Given the description of an element on the screen output the (x, y) to click on. 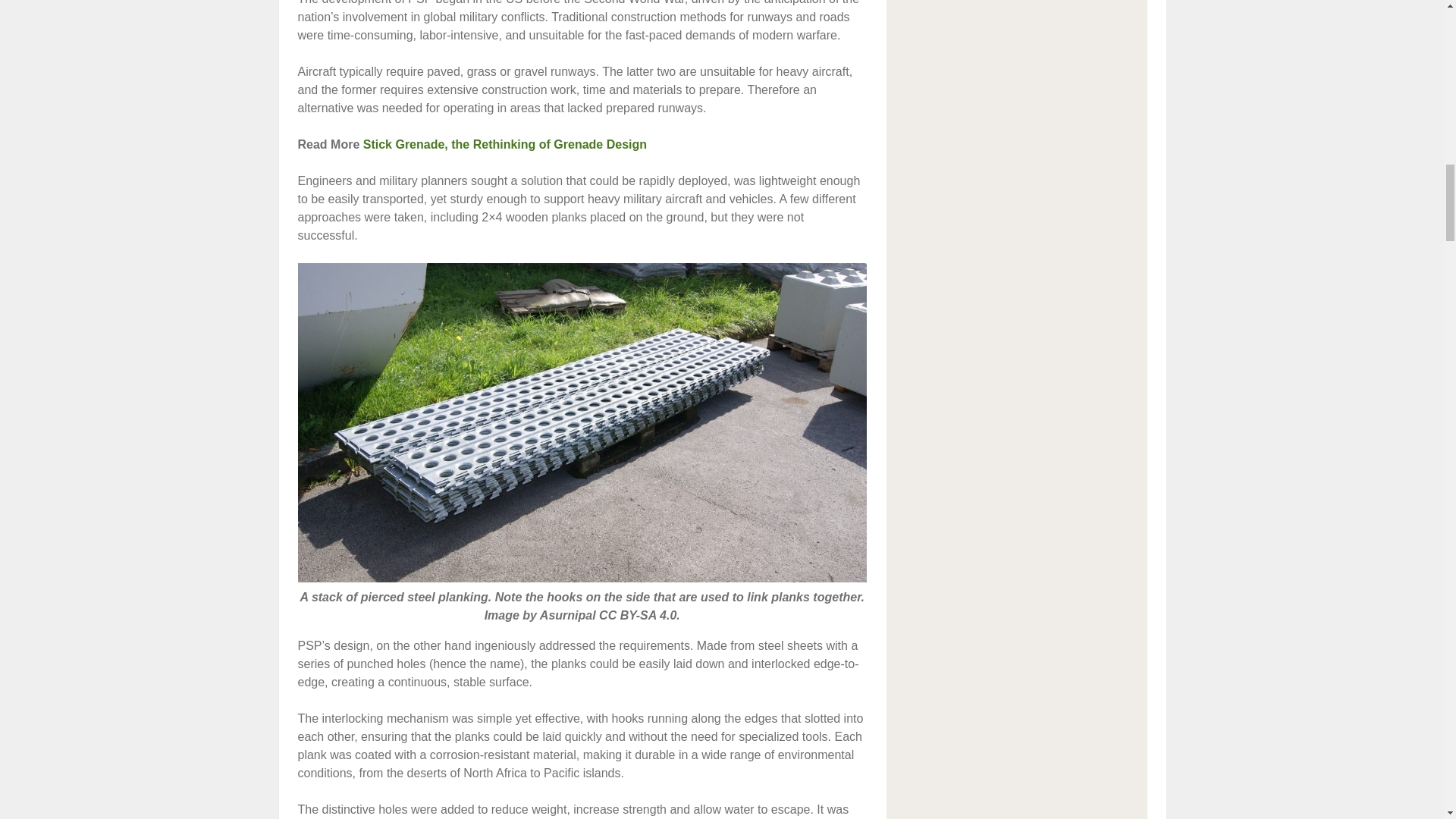
Stick Grenade, the Rethinking of Grenade Design (504, 144)
